Given the description of an element on the screen output the (x, y) to click on. 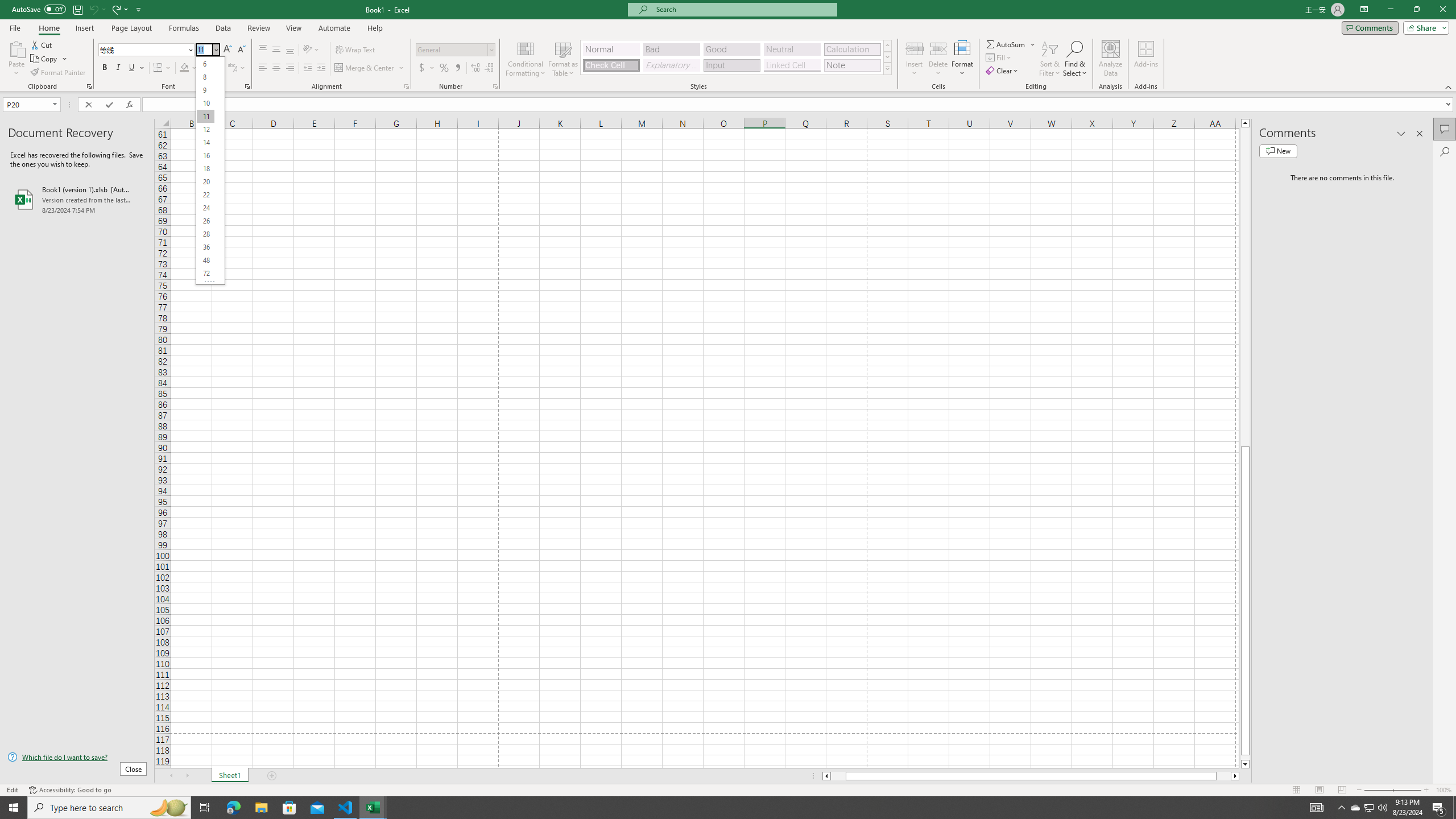
Number Format (455, 49)
Book1 (version 1).xlsb  [AutoRecovered] (77, 199)
Close pane (1419, 133)
Number Format (451, 49)
Open (54, 104)
More Options (1033, 44)
Zoom Out (1377, 790)
New comment (1278, 151)
Center (276, 67)
Decrease Decimal (489, 67)
Normal (611, 49)
Customize Quick Access Toolbar (139, 9)
Page Break Preview (1342, 790)
Review (258, 28)
